Given the description of an element on the screen output the (x, y) to click on. 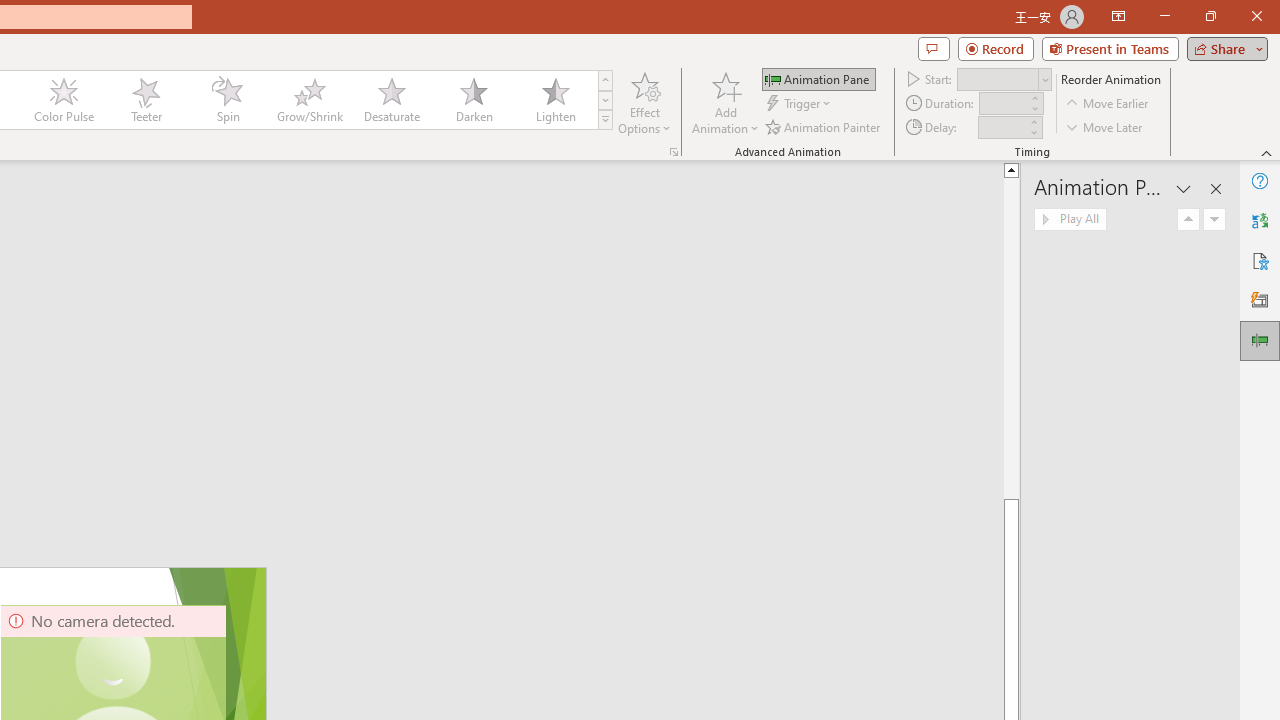
Animation Duration (1003, 103)
Add Animation (725, 102)
Move Later (1105, 126)
Spin (227, 100)
Color Pulse (63, 100)
Lighten (555, 100)
